Given the description of an element on the screen output the (x, y) to click on. 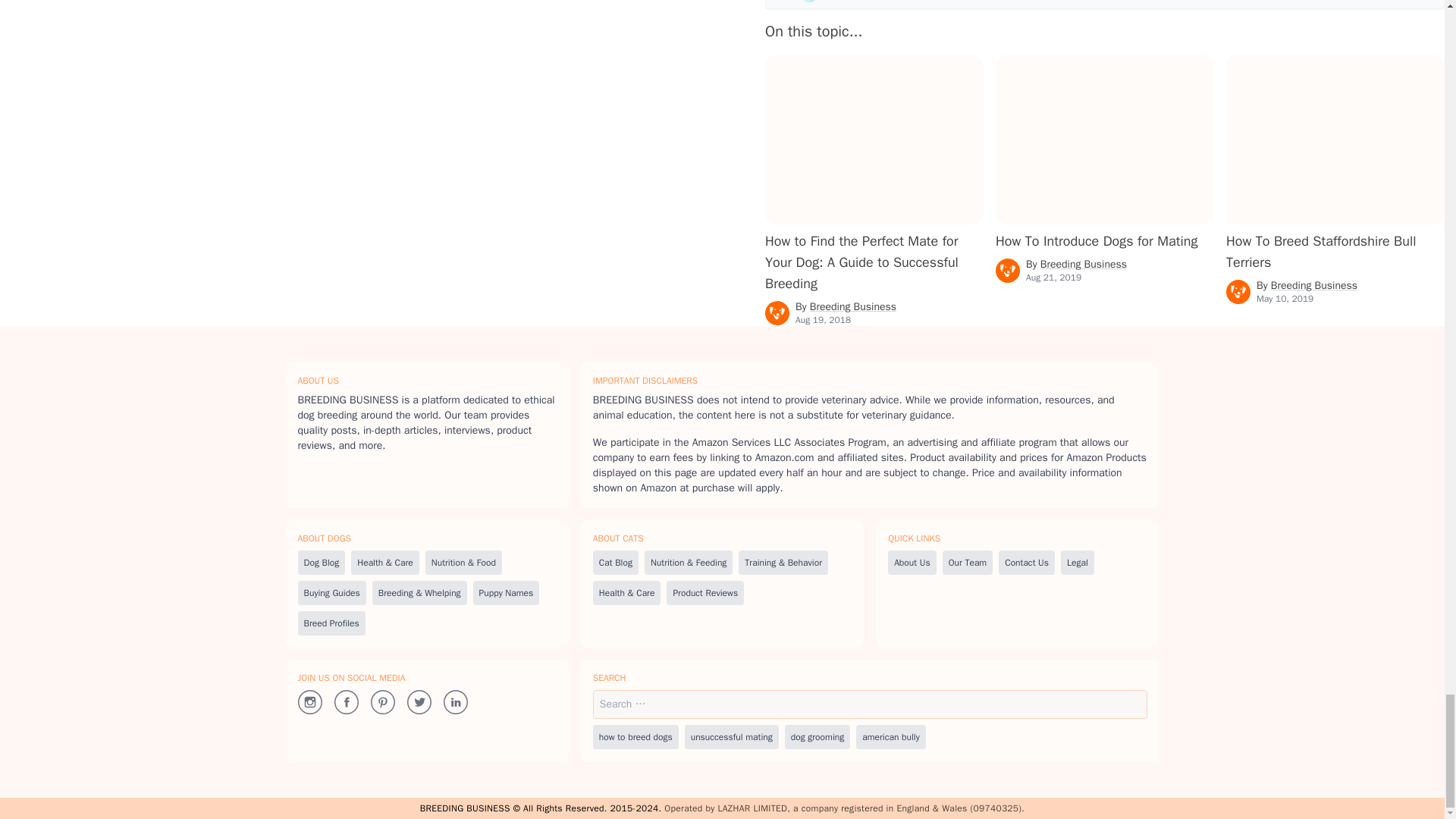
Pinterest (381, 701)
Facebook (345, 701)
Instagram (309, 701)
LinkedIn (454, 701)
Twitter (418, 701)
